Given the description of an element on the screen output the (x, y) to click on. 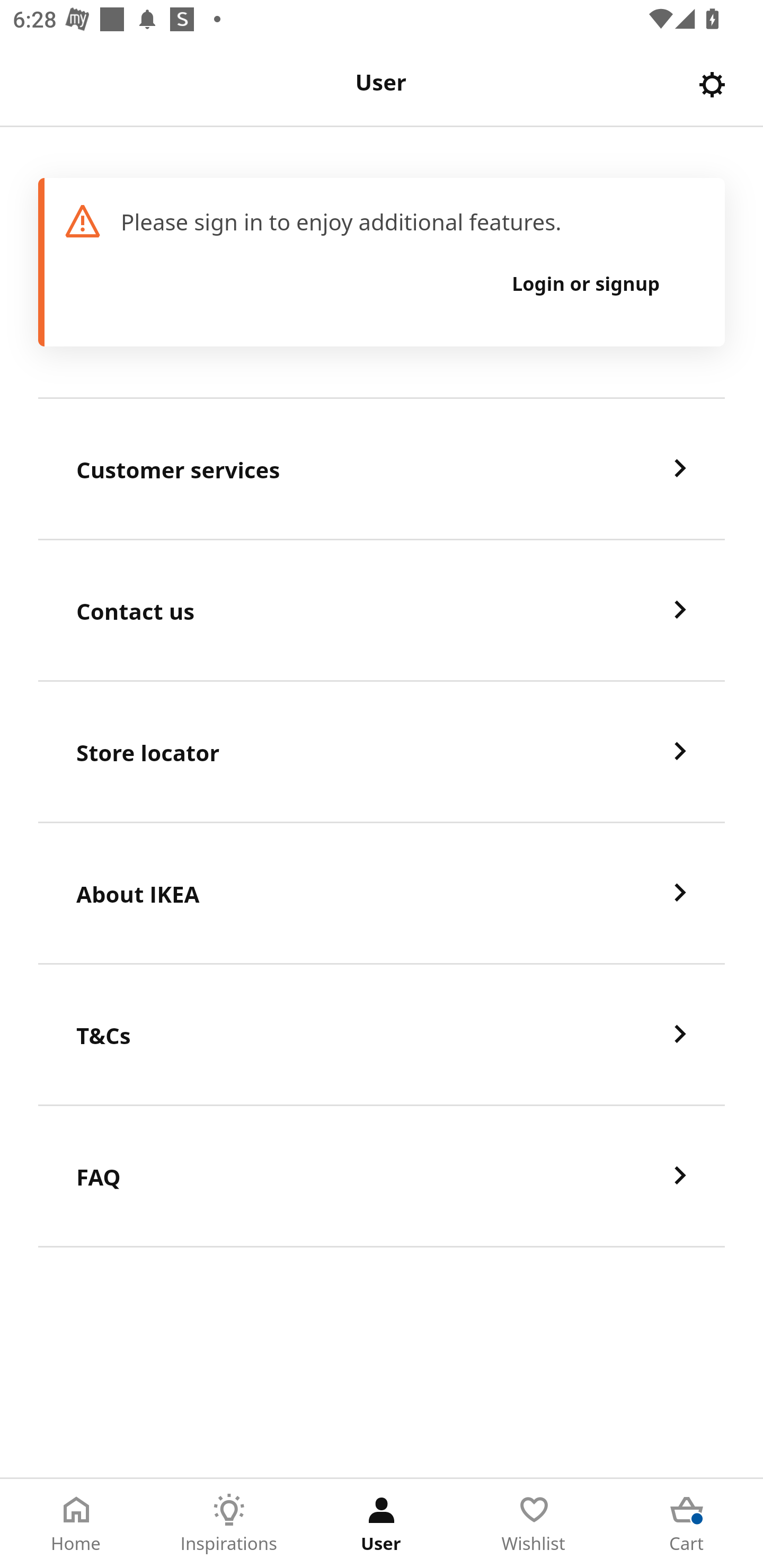
Login or signup (586, 282)
Customer services (381, 469)
Contact us (381, 611)
Store locator (381, 752)
About IKEA (381, 893)
T&Cs (381, 1034)
FAQ (381, 1176)
Home
Tab 1 of 5 (76, 1522)
Inspirations
Tab 2 of 5 (228, 1522)
User
Tab 3 of 5 (381, 1522)
Wishlist
Tab 4 of 5 (533, 1522)
Cart
Tab 5 of 5 (686, 1522)
